Given the description of an element on the screen output the (x, y) to click on. 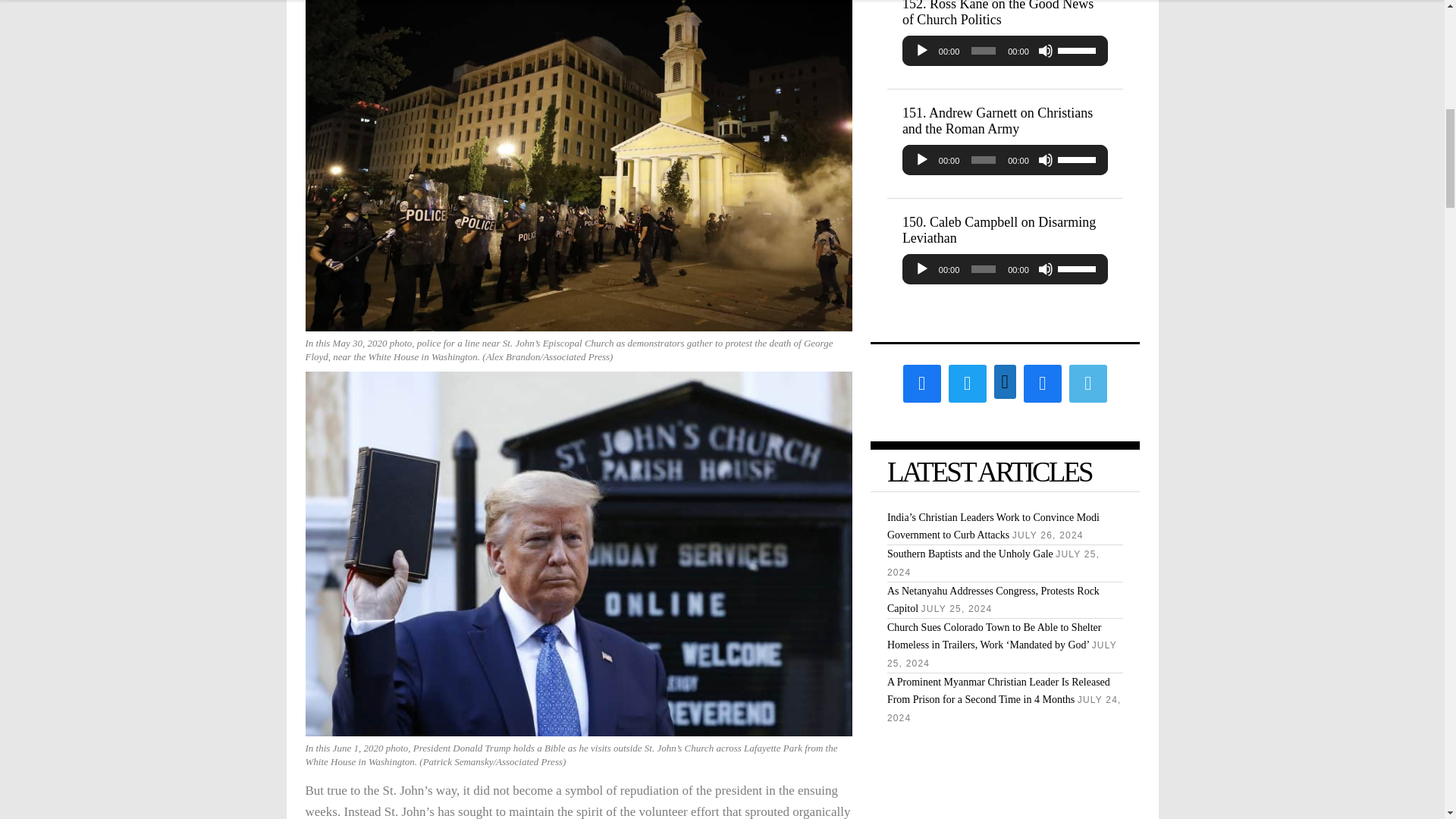
Mute (1045, 159)
Play (922, 159)
Mute (1045, 50)
Play (922, 50)
